Given the description of an element on the screen output the (x, y) to click on. 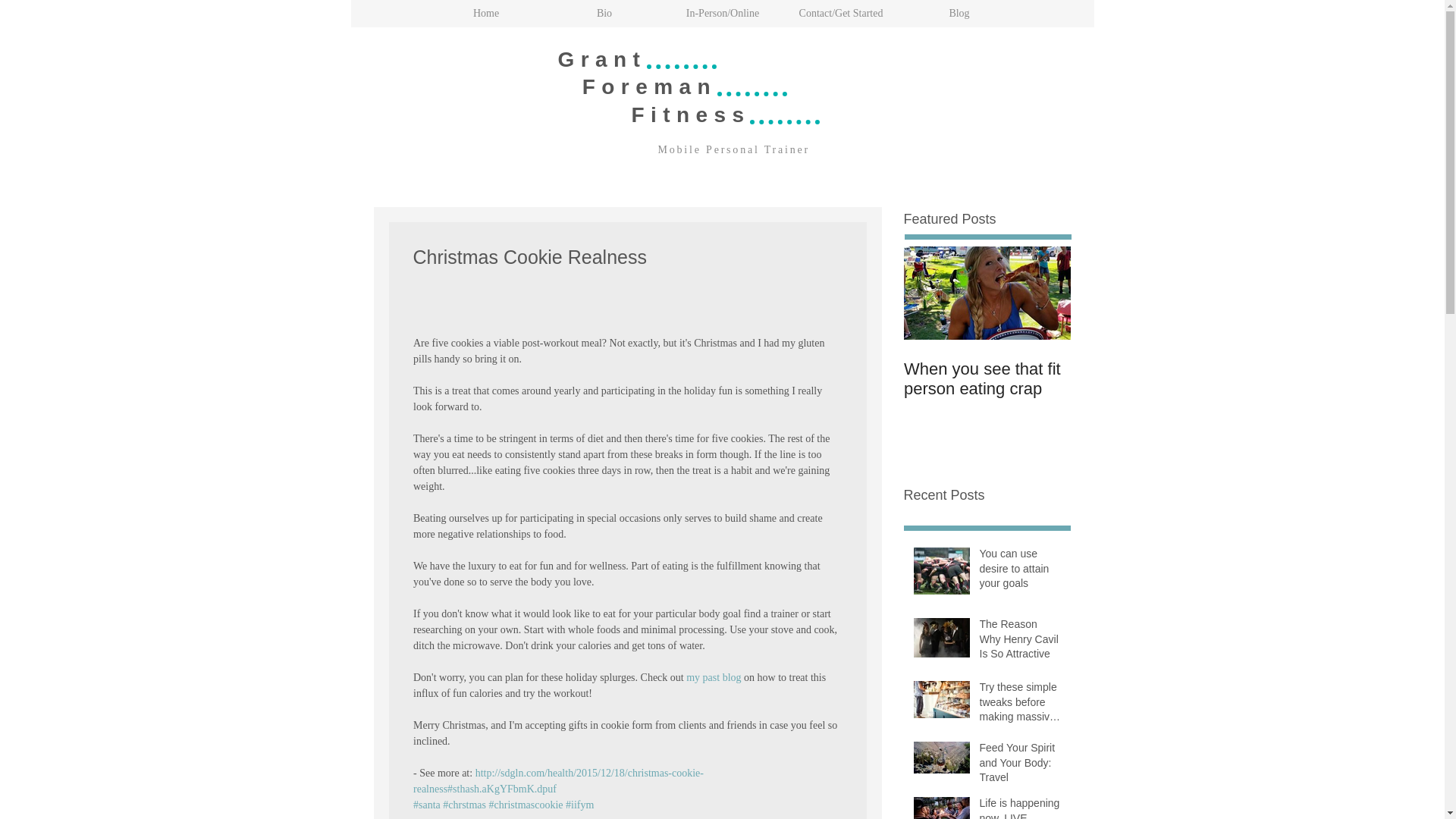
You can use desire to attain your goals (1020, 572)
my past blog (713, 677)
Home (485, 13)
When you see that fit person eating crap (987, 378)
The Reason Why Henry Cavil Is So Attractive (1020, 642)
Bio (603, 13)
Try these simple tweaks before making massive overhauls (1020, 705)
Mobile Personal Trainer (734, 149)
Blog (958, 13)
Feed Your Spirit and Your Body: Travel (1020, 766)
  Foreman (636, 86)
Life is happening now. LIVE. (1020, 807)
